Given the description of an element on the screen output the (x, y) to click on. 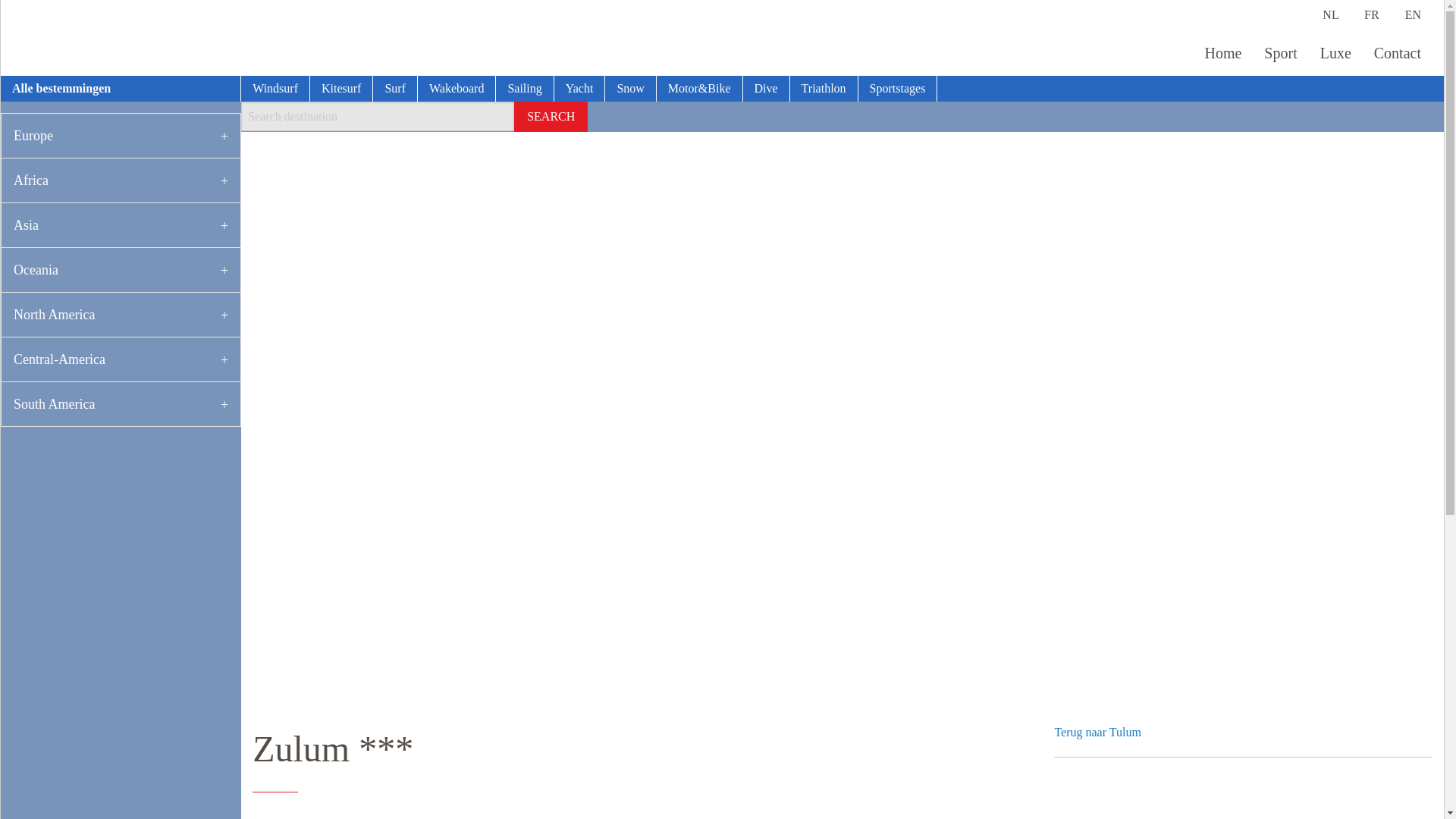
NL (1330, 14)
Contact (1397, 53)
Luxe (1335, 53)
EN (1413, 14)
Home (1222, 53)
FR (1371, 14)
Sport (1280, 53)
